Given the description of an element on the screen output the (x, y) to click on. 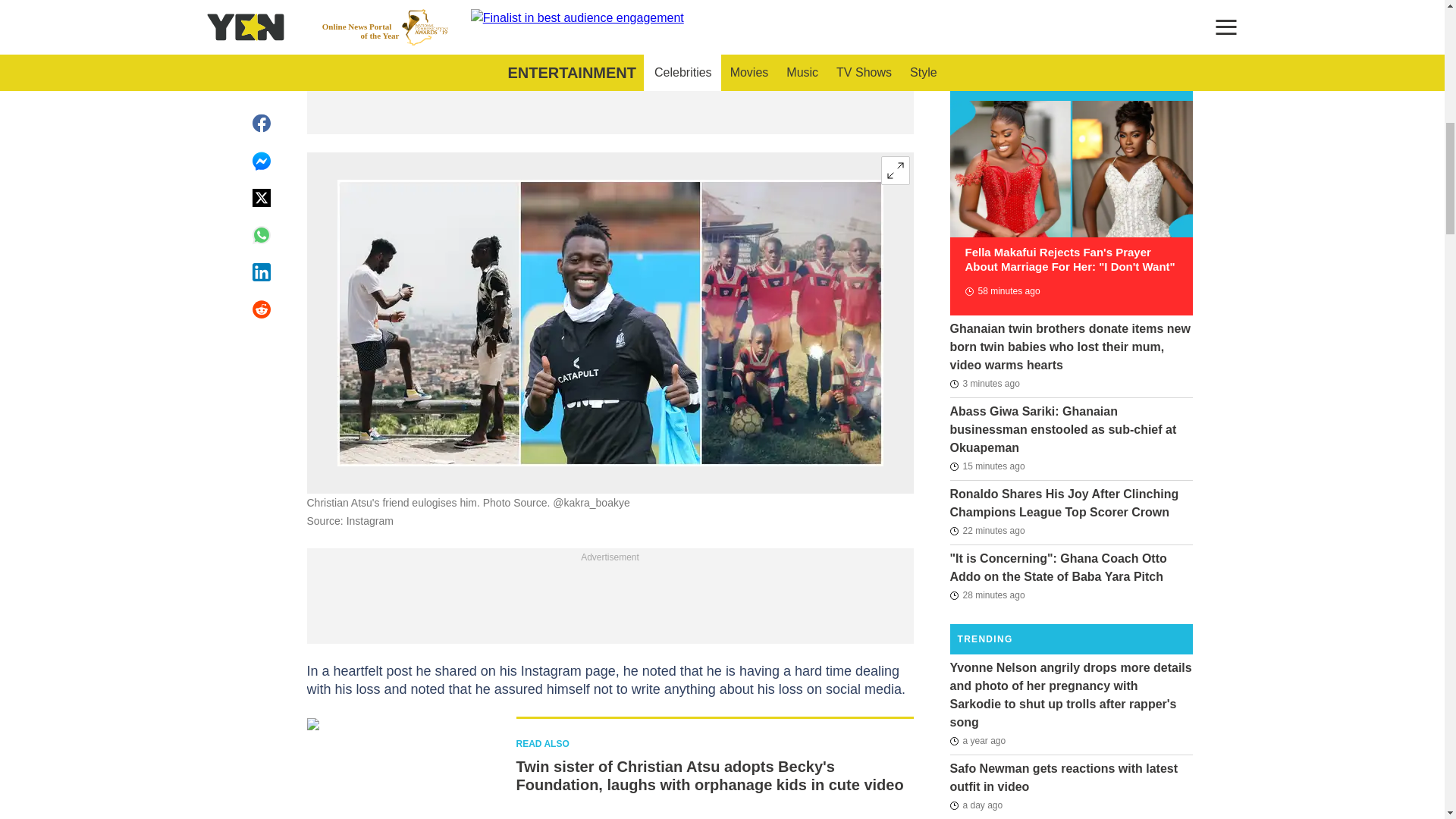
2024-08-29T17:48:47Z (1001, 290)
2023-06-28T18:20:12Z (977, 741)
2024-08-29T18:44:15Z (984, 383)
2024-08-29T18:25:27Z (987, 530)
2024-08-28T16:44:29Z (976, 805)
Expand image (895, 170)
2024-08-29T18:31:39Z (987, 466)
2024-08-29T18:19:30Z (987, 595)
